Given the description of an element on the screen output the (x, y) to click on. 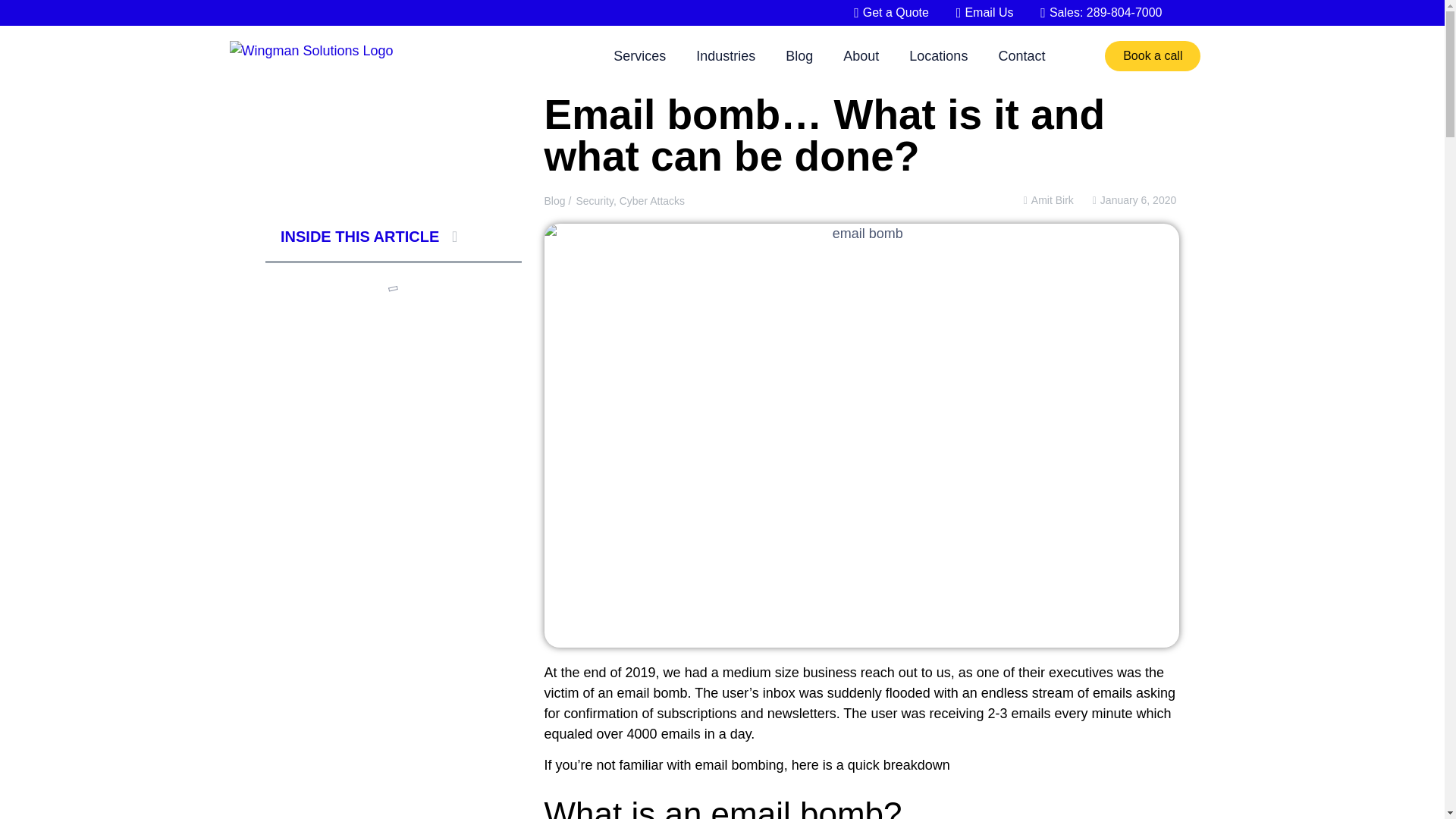
Locations (937, 55)
Get a Quote (884, 13)
About (860, 55)
Email Us (978, 13)
Blog (799, 55)
Industries (725, 55)
Services (639, 55)
Sales: 289-804-7000 (1094, 13)
